Given the description of an element on the screen output the (x, y) to click on. 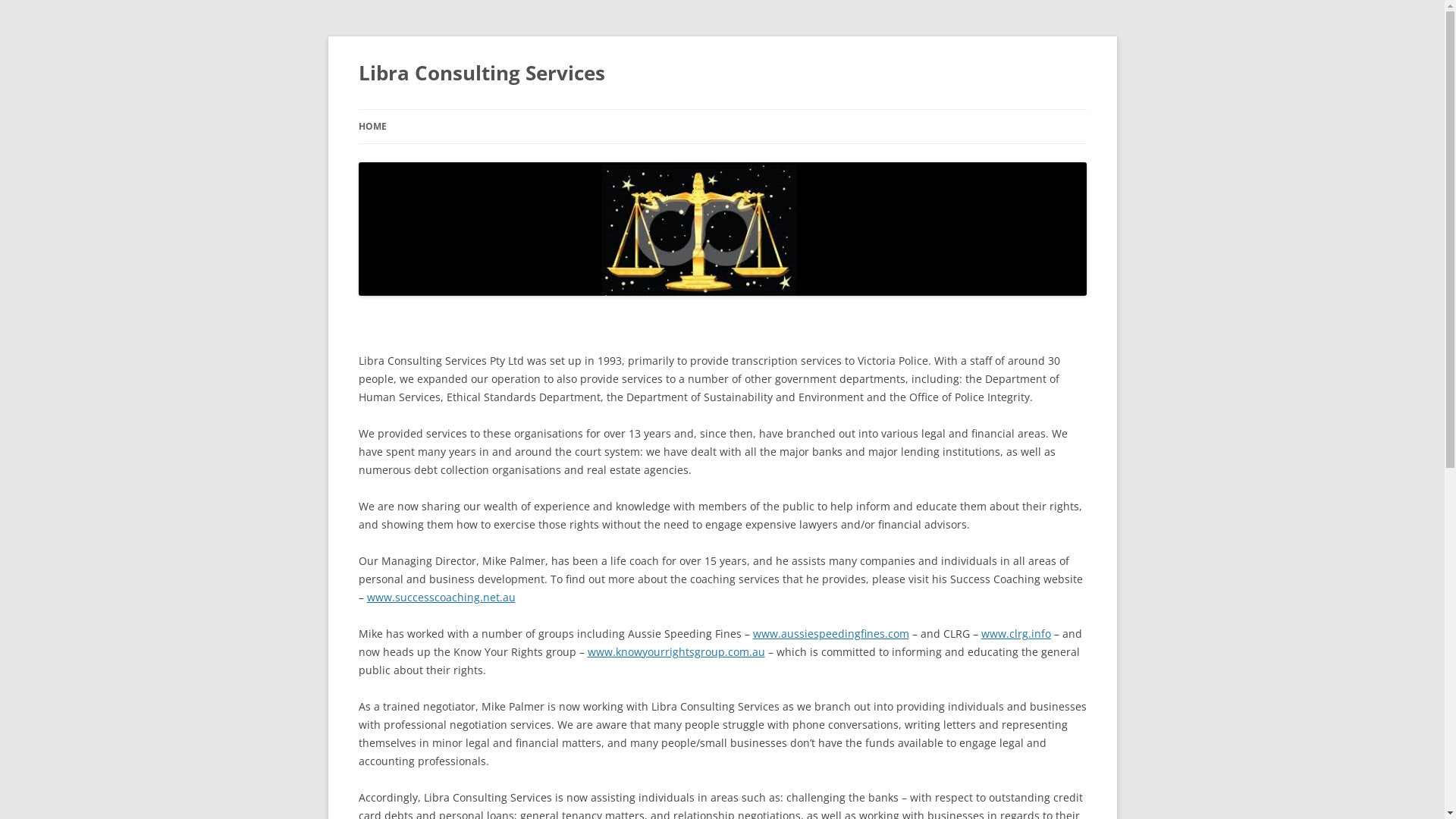
www.clrg.info Element type: text (1016, 633)
HOME Element type: text (371, 126)
www.knowyourrightsgroup.com.au Element type: text (675, 651)
www.successcoaching.net.au Element type: text (441, 596)
Libra Consulting Services Element type: text (480, 72)
www.aussiespeedingfines.com Element type: text (830, 633)
Skip to content Element type: text (721, 109)
